Given the description of an element on the screen output the (x, y) to click on. 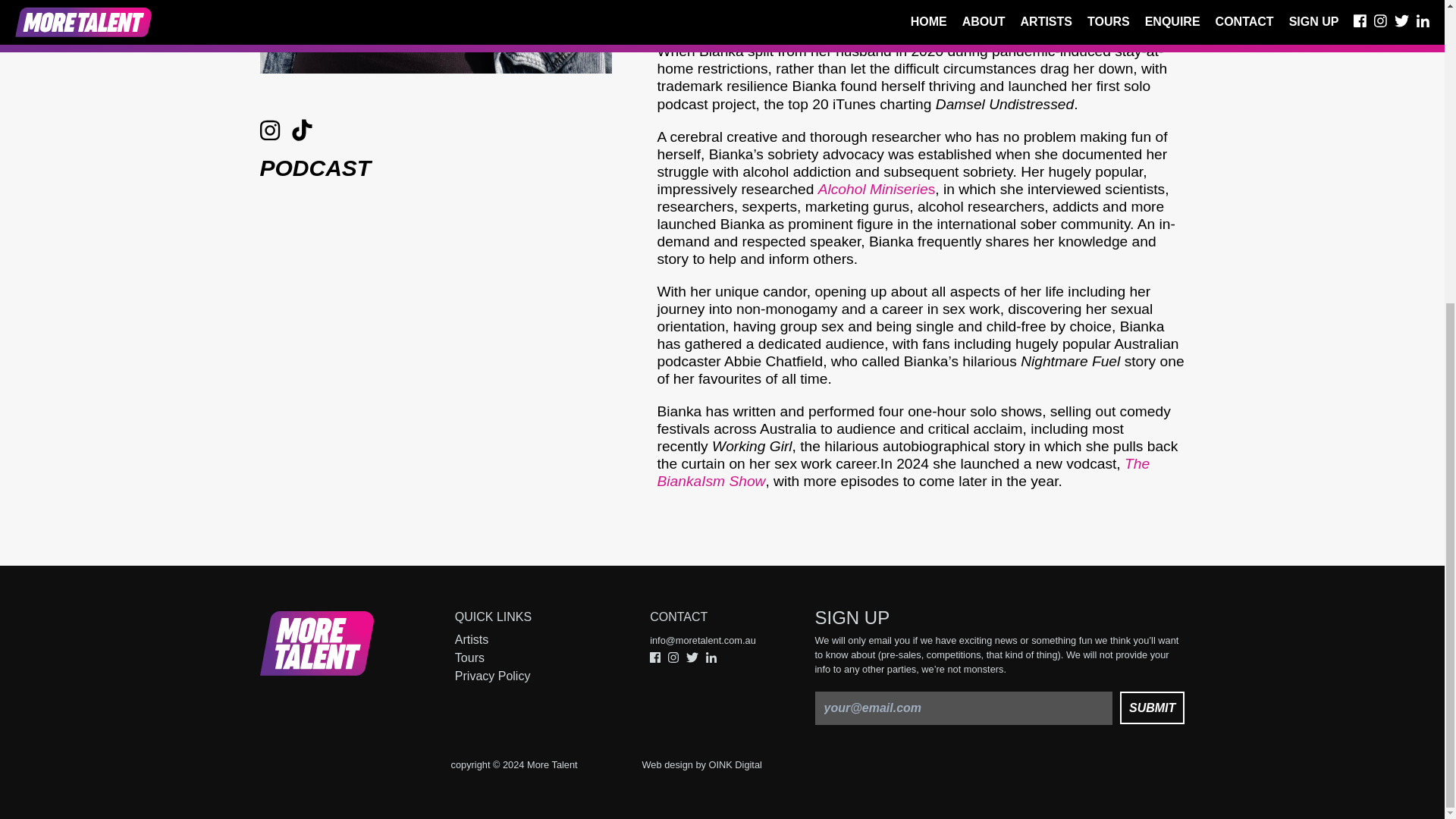
The BiankaIsm Show (903, 471)
Alcohol Miniseries (877, 188)
PODCAST (315, 167)
